Given the description of an element on the screen output the (x, y) to click on. 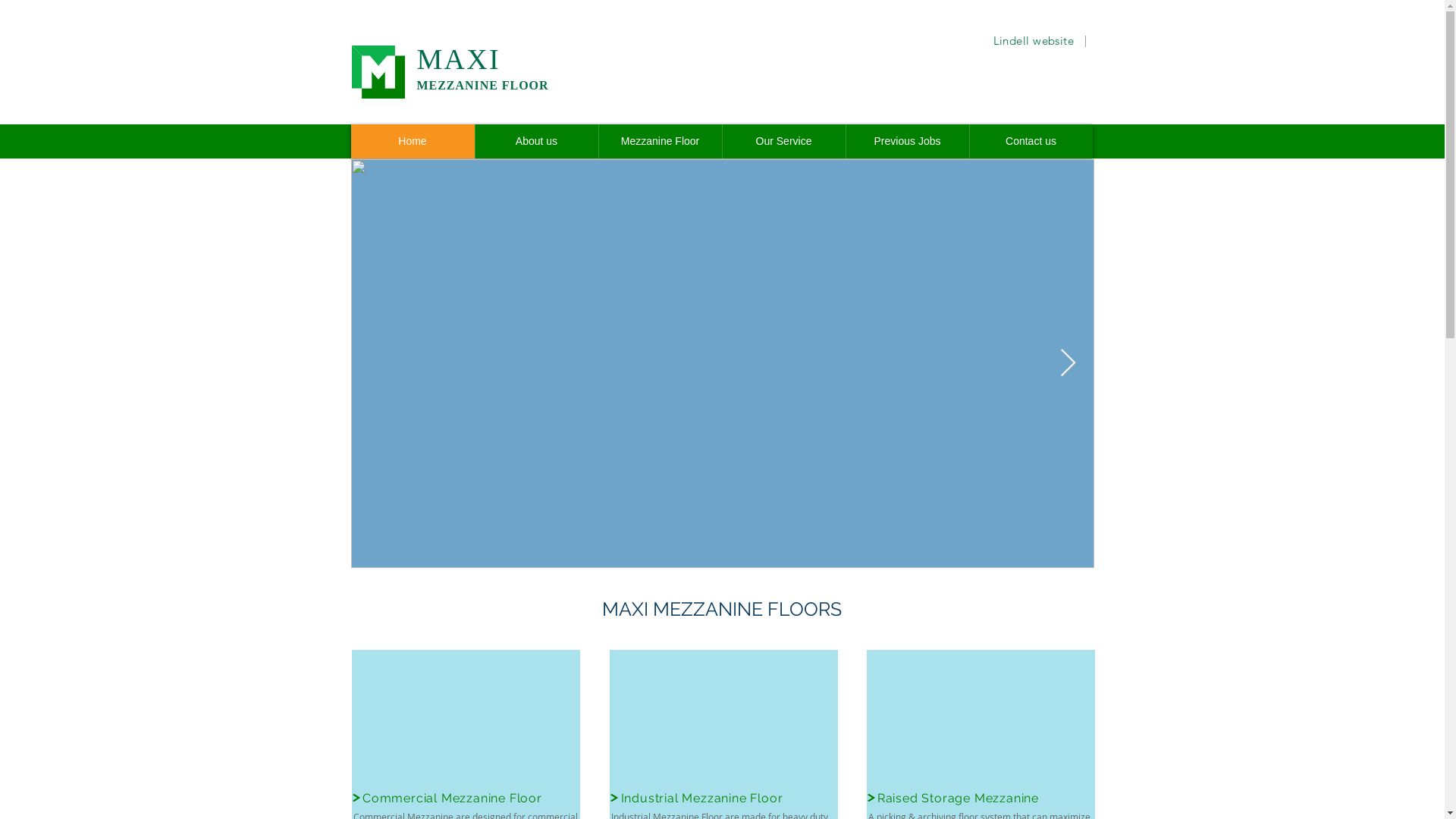
Our Service Element type: text (783, 141)
Commercial Mezzanine Floor Element type: text (452, 797)
MEZZANINE FLOOR Element type: text (483, 85)
MAXI Element type: text (458, 59)
Previous Jobs Element type: text (906, 141)
Raised Storage Mezzanine Element type: text (957, 797)
Industrial Mezzanine Floor Element type: text (702, 797)
Contact us Element type: text (1030, 141)
Mezzanine Floor Element type: text (659, 141)
About us Element type: text (536, 141)
Home Element type: text (411, 141)
Lindell website Element type: text (1033, 39)
